Given the description of an element on the screen output the (x, y) to click on. 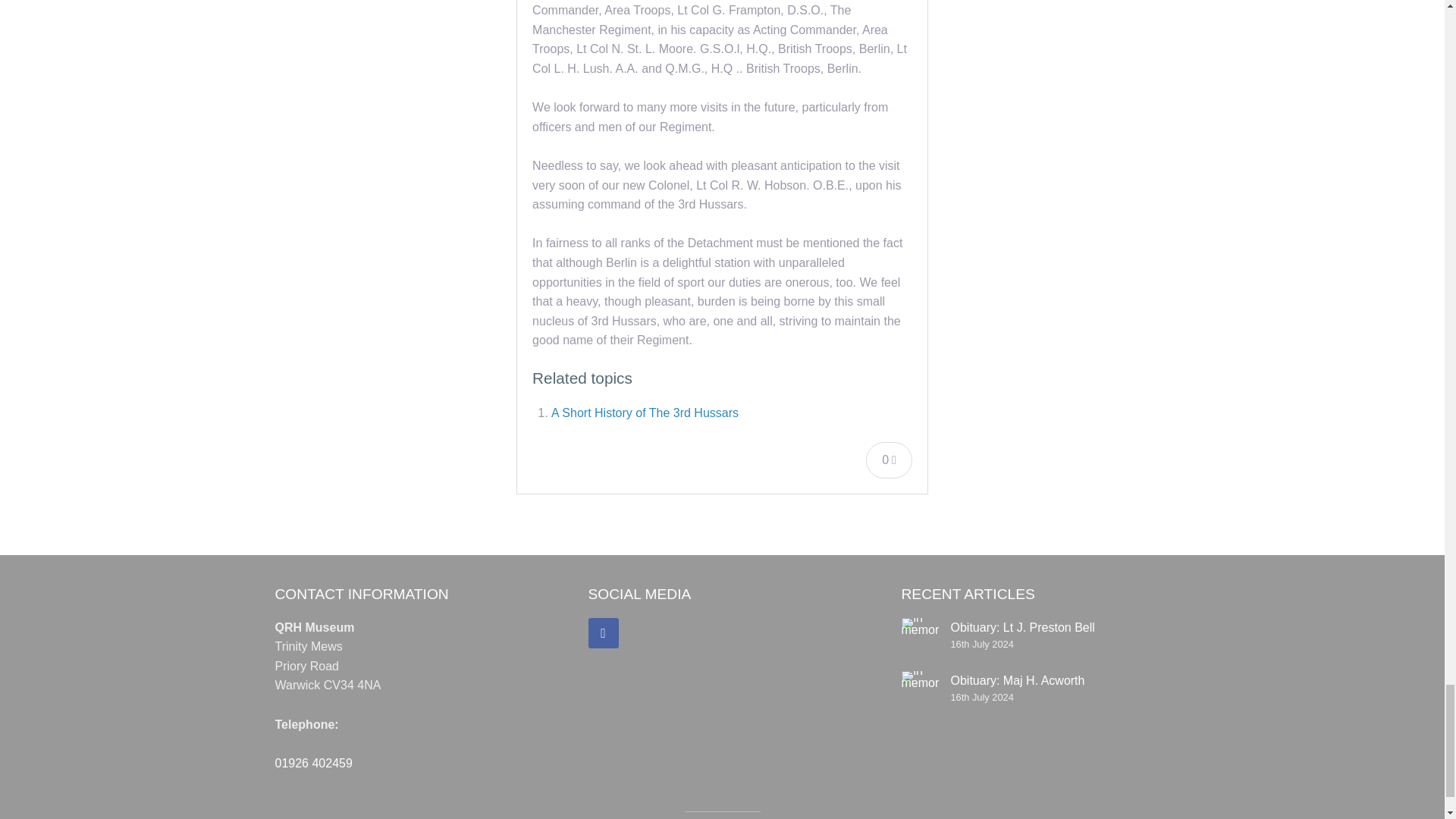
0 (889, 459)
A Short History of The 3rd Hussars (644, 412)
Facebook (603, 633)
